Given the description of an element on the screen output the (x, y) to click on. 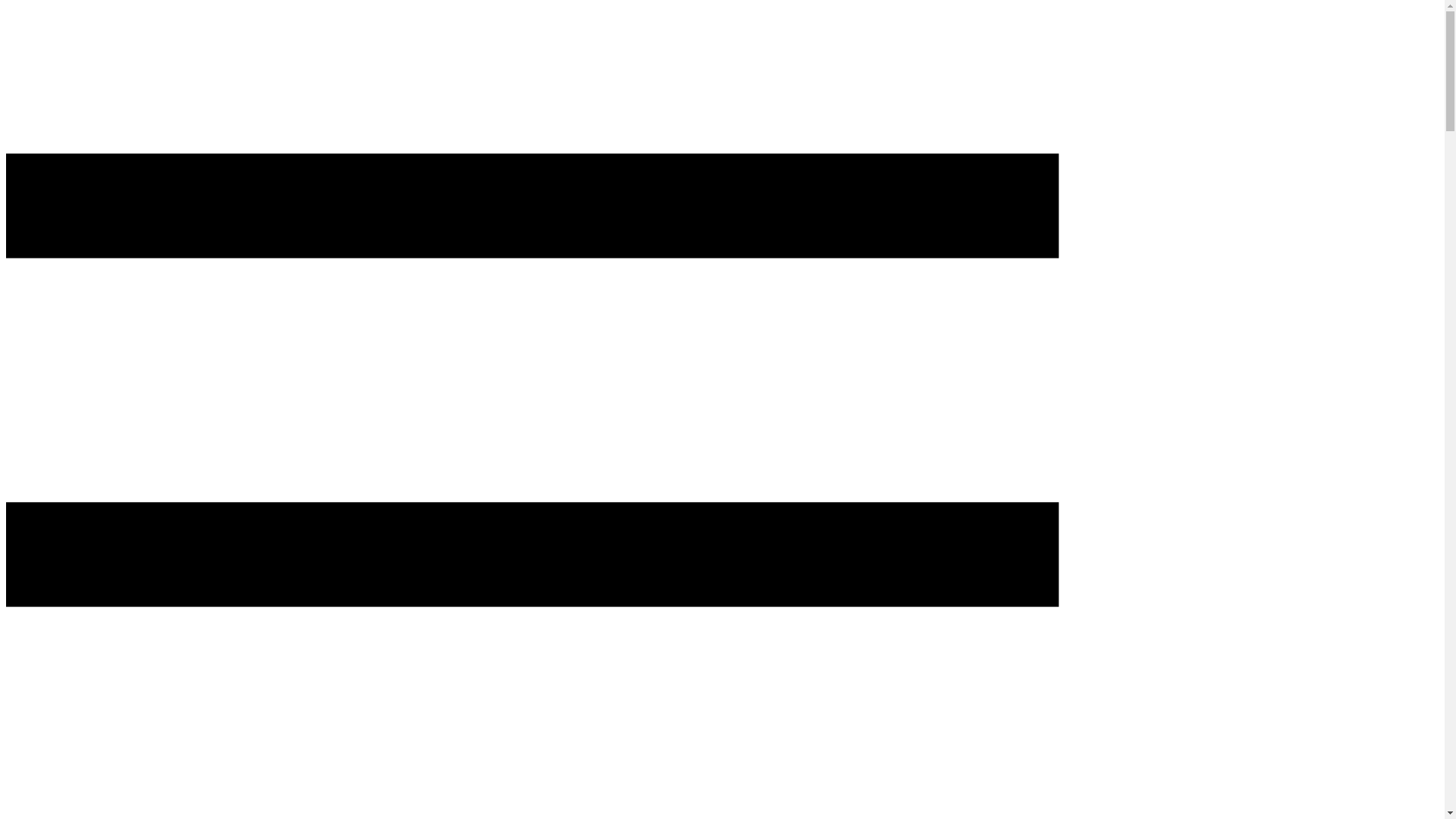
Skip to content Element type: text (5, 27)
